Given the description of an element on the screen output the (x, y) to click on. 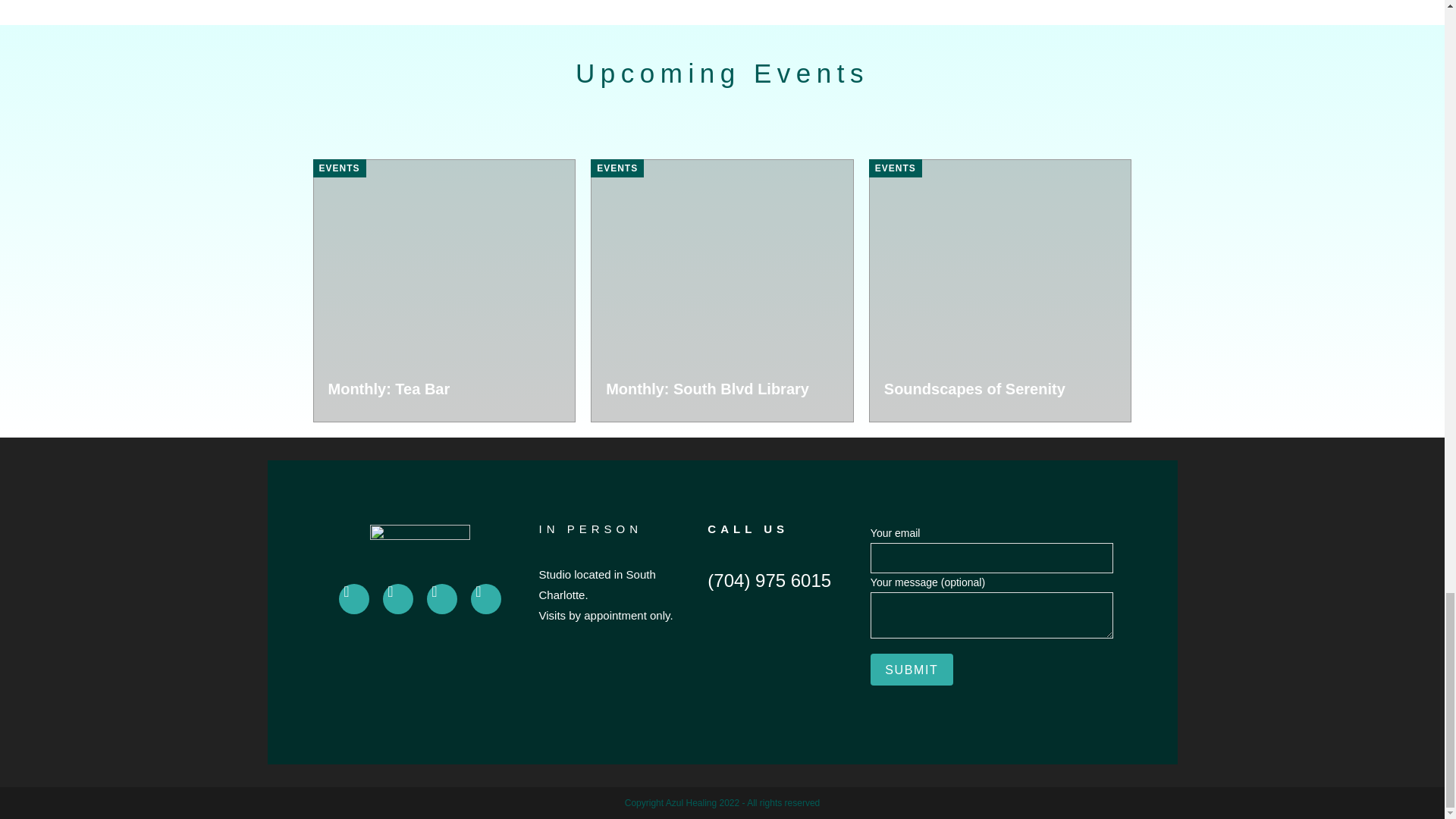
Soundscapes of Serenity (974, 388)
Monthly: South Blvd Library (707, 388)
EVENTS (895, 167)
EVENTS (617, 167)
Monthly: Tea Bar (388, 388)
Submit (911, 669)
EVENTS (339, 167)
Submit (911, 669)
